Given the description of an element on the screen output the (x, y) to click on. 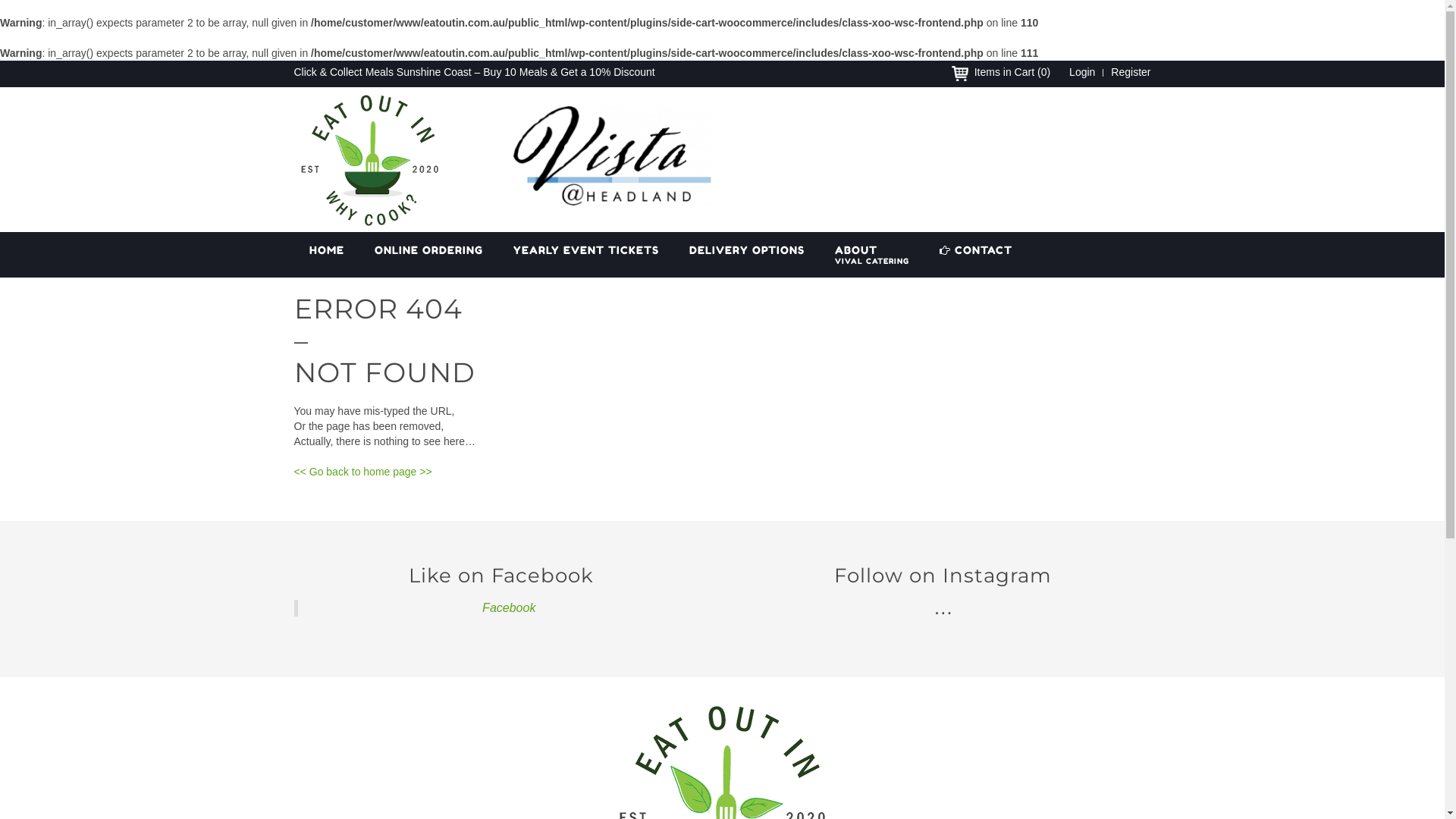
Register Element type: text (1126, 71)
Facebook Element type: text (508, 607)
YEARLY EVENT TICKETS Element type: text (585, 254)
<< Go back to home page >> Element type: text (363, 471)
Items in Cart (0) Element type: text (1012, 71)
CONTACT Element type: text (974, 254)
ONLINE ORDERING Element type: text (428, 254)
DELIVERY OPTIONS Element type: text (746, 254)
ABOUT
VIVAL CATERING Element type: text (871, 254)
HOME Element type: text (326, 254)
Login Element type: text (1082, 71)
